Given the description of an element on the screen output the (x, y) to click on. 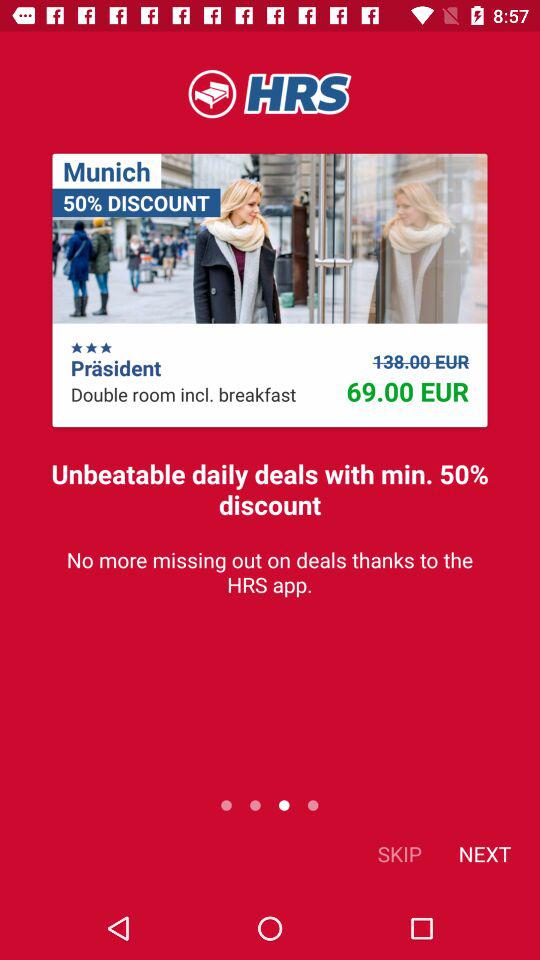
flip to skip item (399, 853)
